Given the description of an element on the screen output the (x, y) to click on. 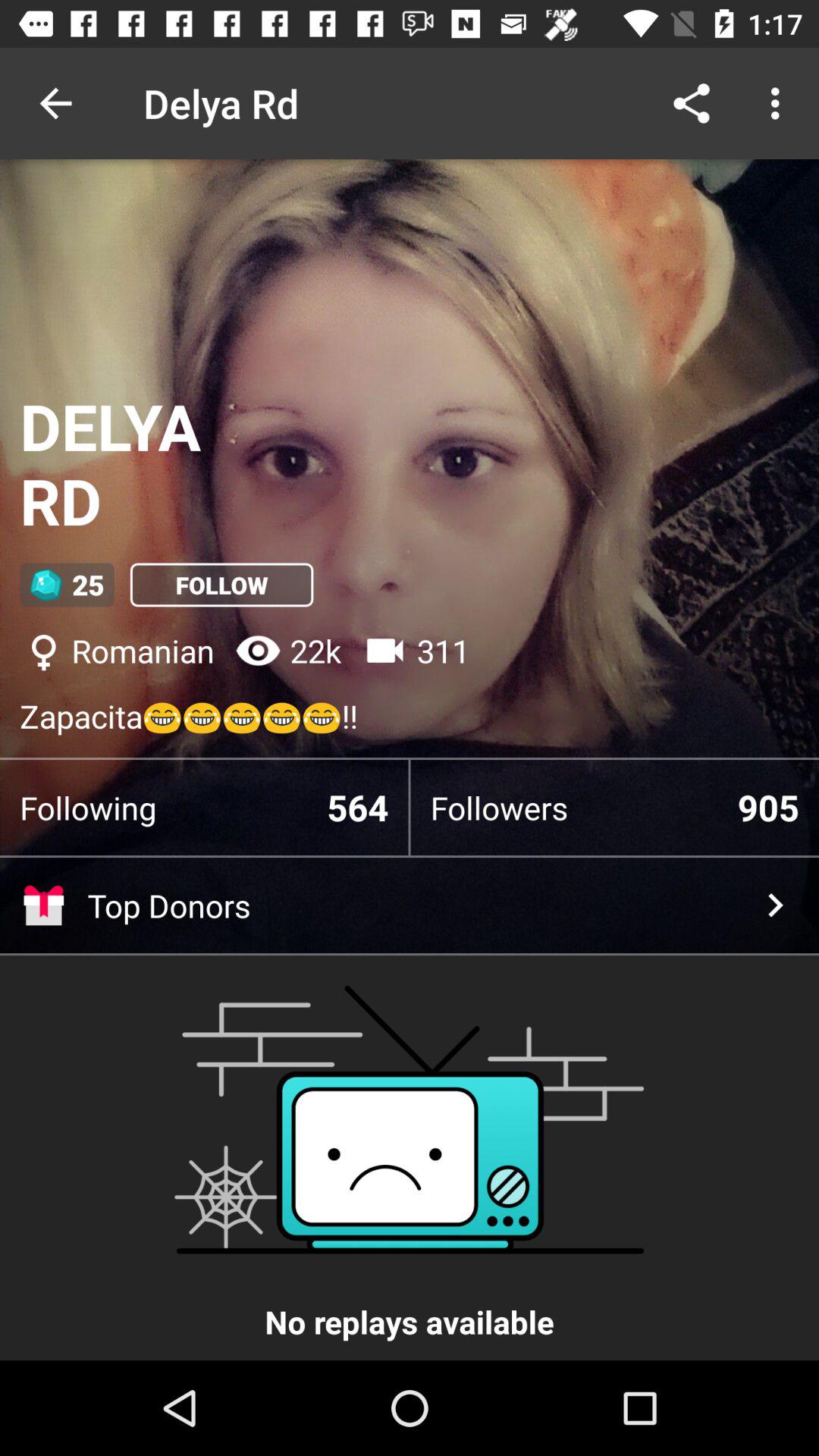
launch item above romanian (221, 584)
